Given the description of an element on the screen output the (x, y) to click on. 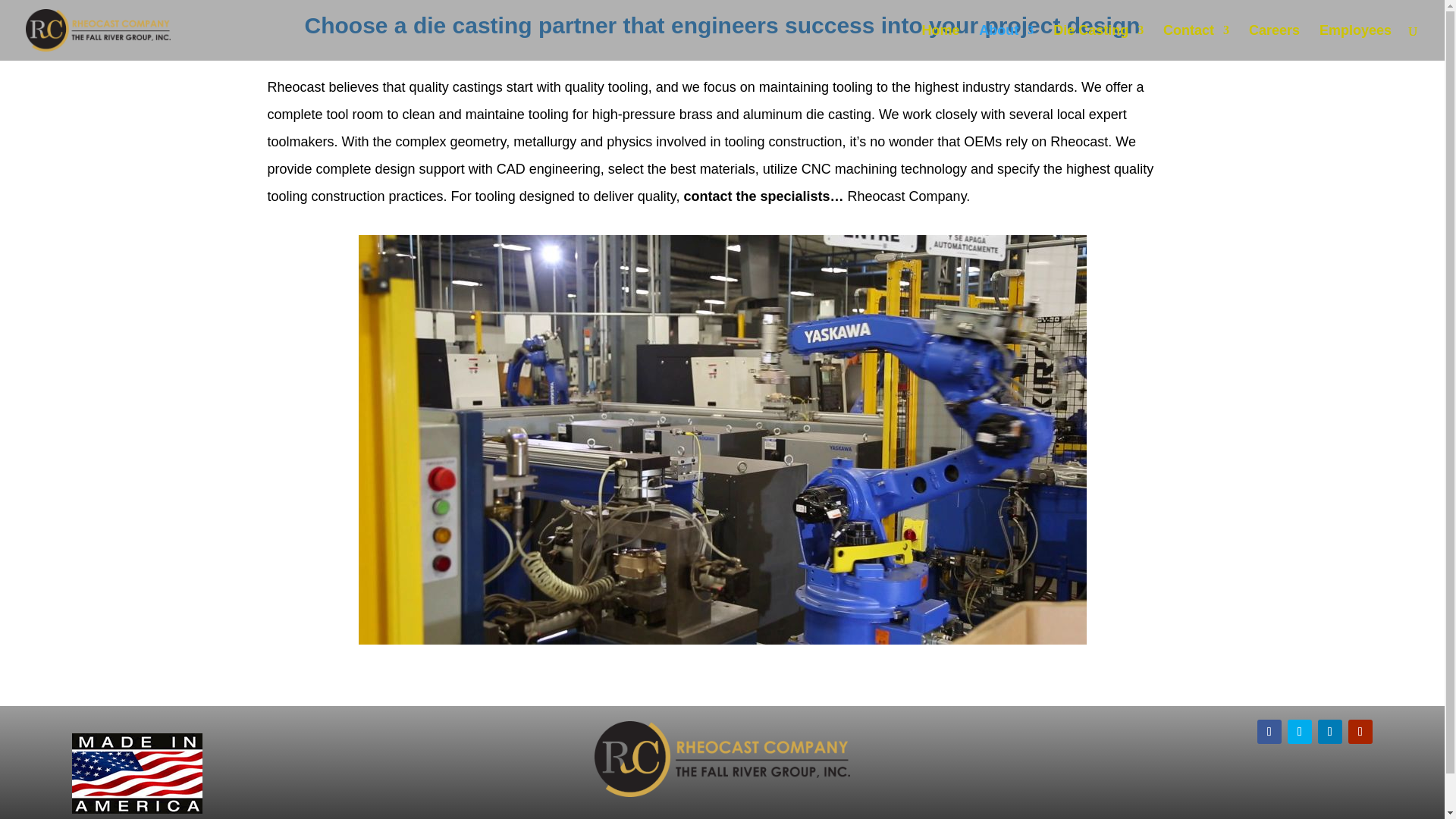
Follow on Twitter (1299, 731)
Home (940, 42)
Die Casting (1097, 42)
Follow on Youtube (1360, 731)
Follow on LinkedIn (1329, 731)
Careers (1274, 42)
made-in-usa-new (136, 773)
Employees (1355, 42)
Follow on Facebook (1269, 731)
RC-Header120 (722, 758)
About (1005, 42)
Contact (1195, 42)
